Given the description of an element on the screen output the (x, y) to click on. 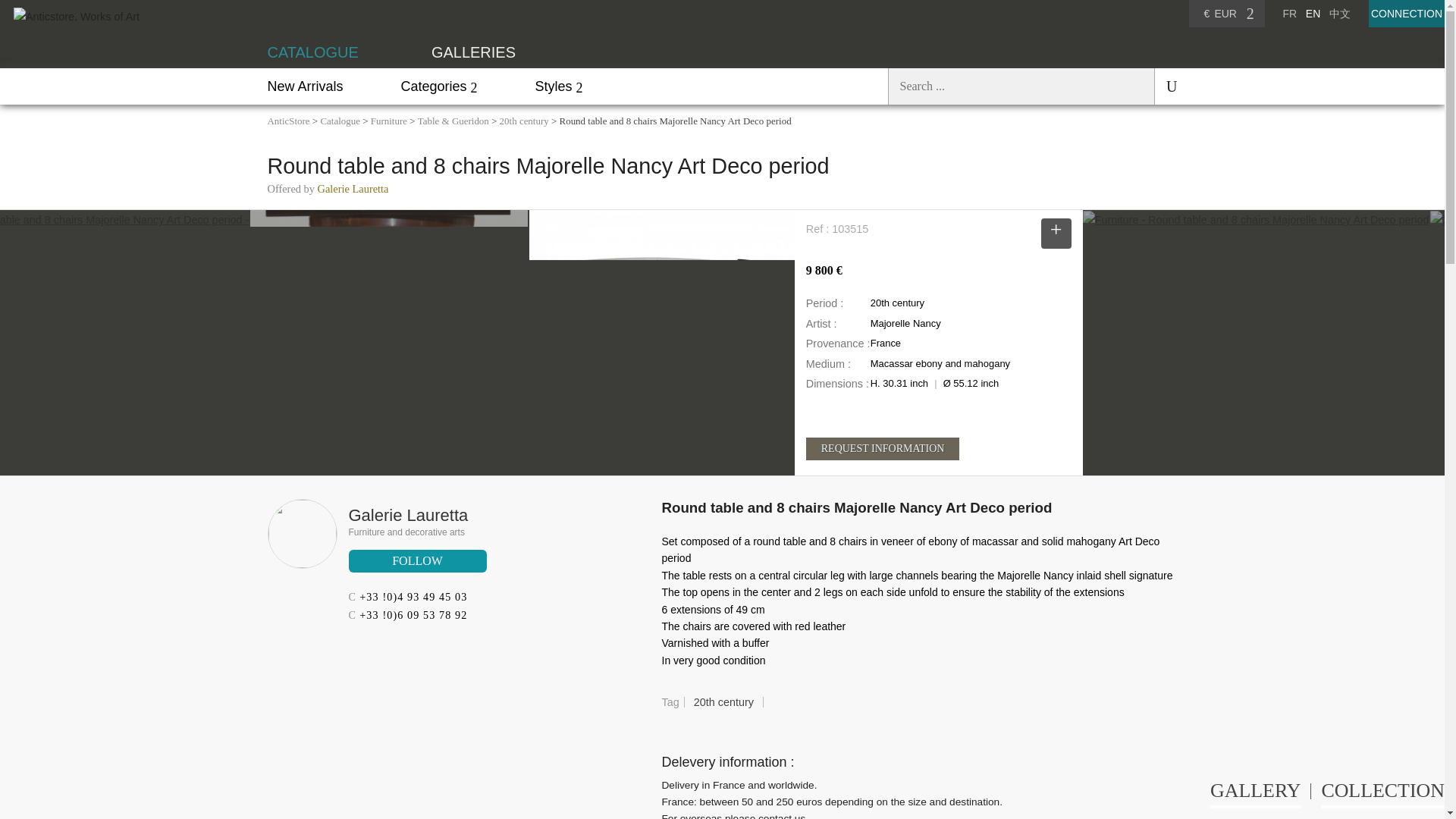
CATALOGUE (312, 52)
New Arrivals (304, 85)
FR (1289, 13)
U (1165, 85)
U (1165, 85)
GALLERIES (472, 52)
U (1165, 85)
